Given the description of an element on the screen output the (x, y) to click on. 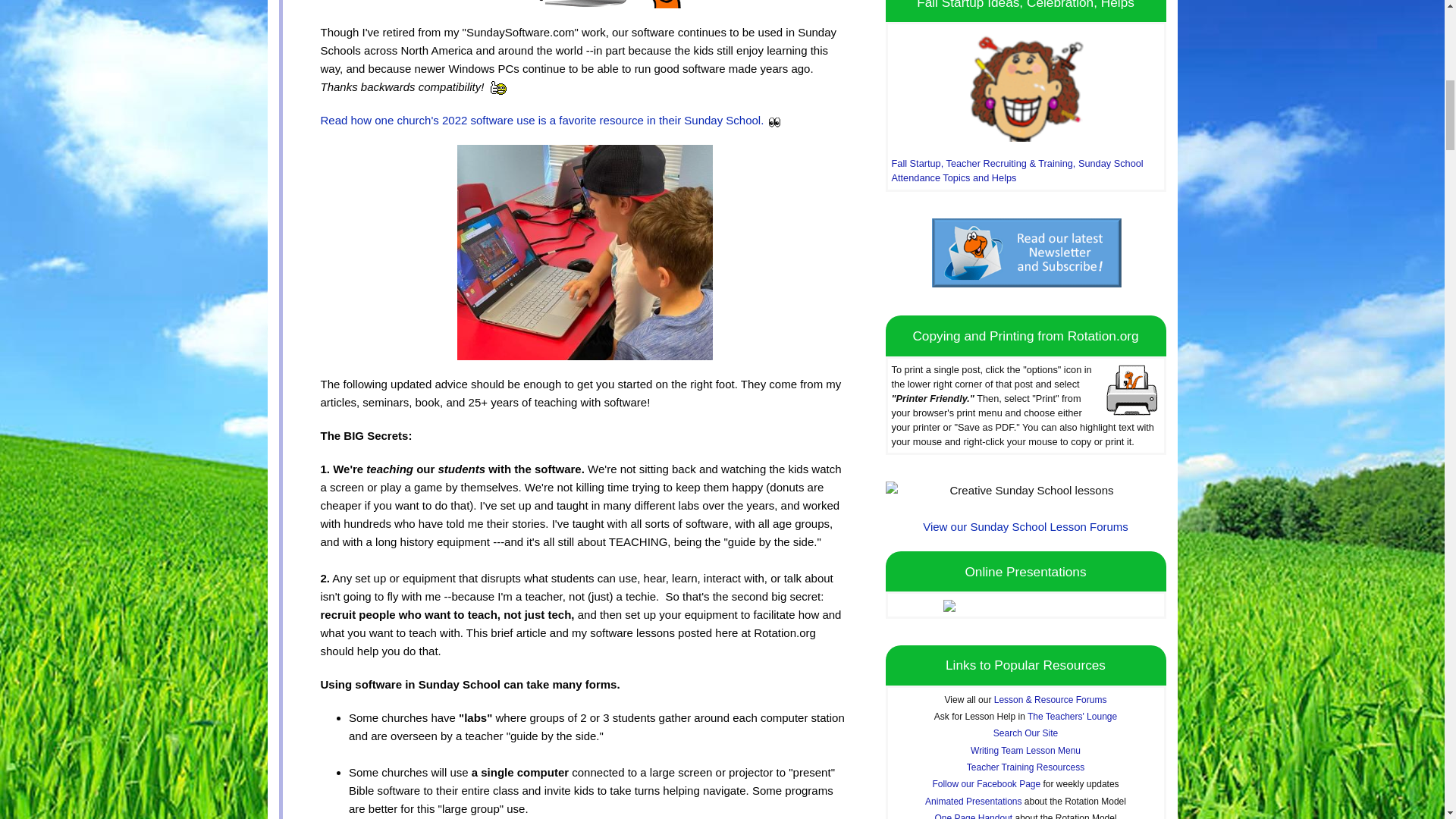
thumb (497, 87)
eyz (774, 121)
